Given the description of an element on the screen output the (x, y) to click on. 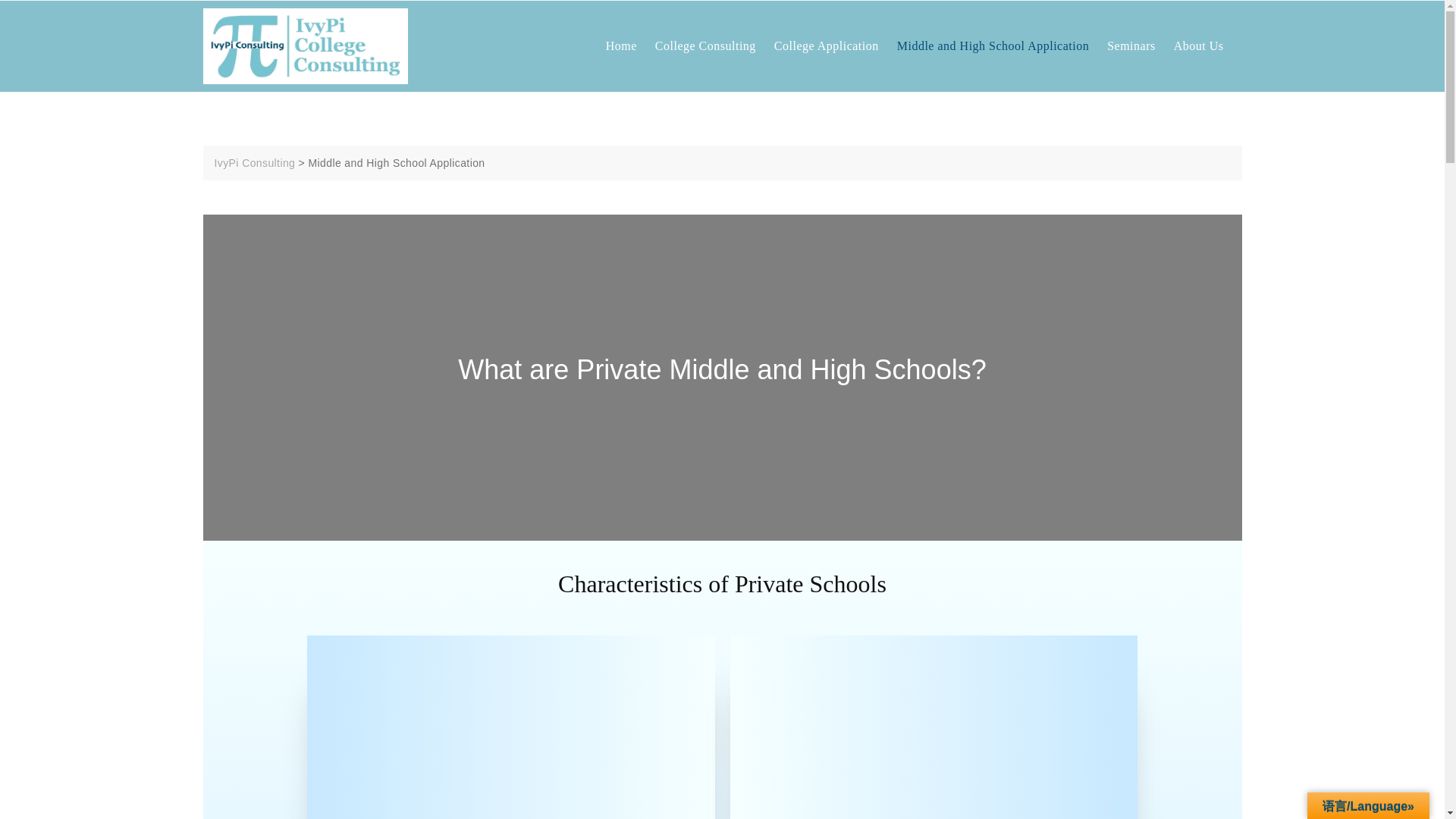
Seminars (1139, 45)
About Us (1207, 45)
College Application (835, 45)
Middle and High School Application (1001, 45)
College Consulting (714, 45)
Home (630, 45)
IvyPi Consulting (254, 162)
Go to IvyPi Consulting. (254, 162)
